Given the description of an element on the screen output the (x, y) to click on. 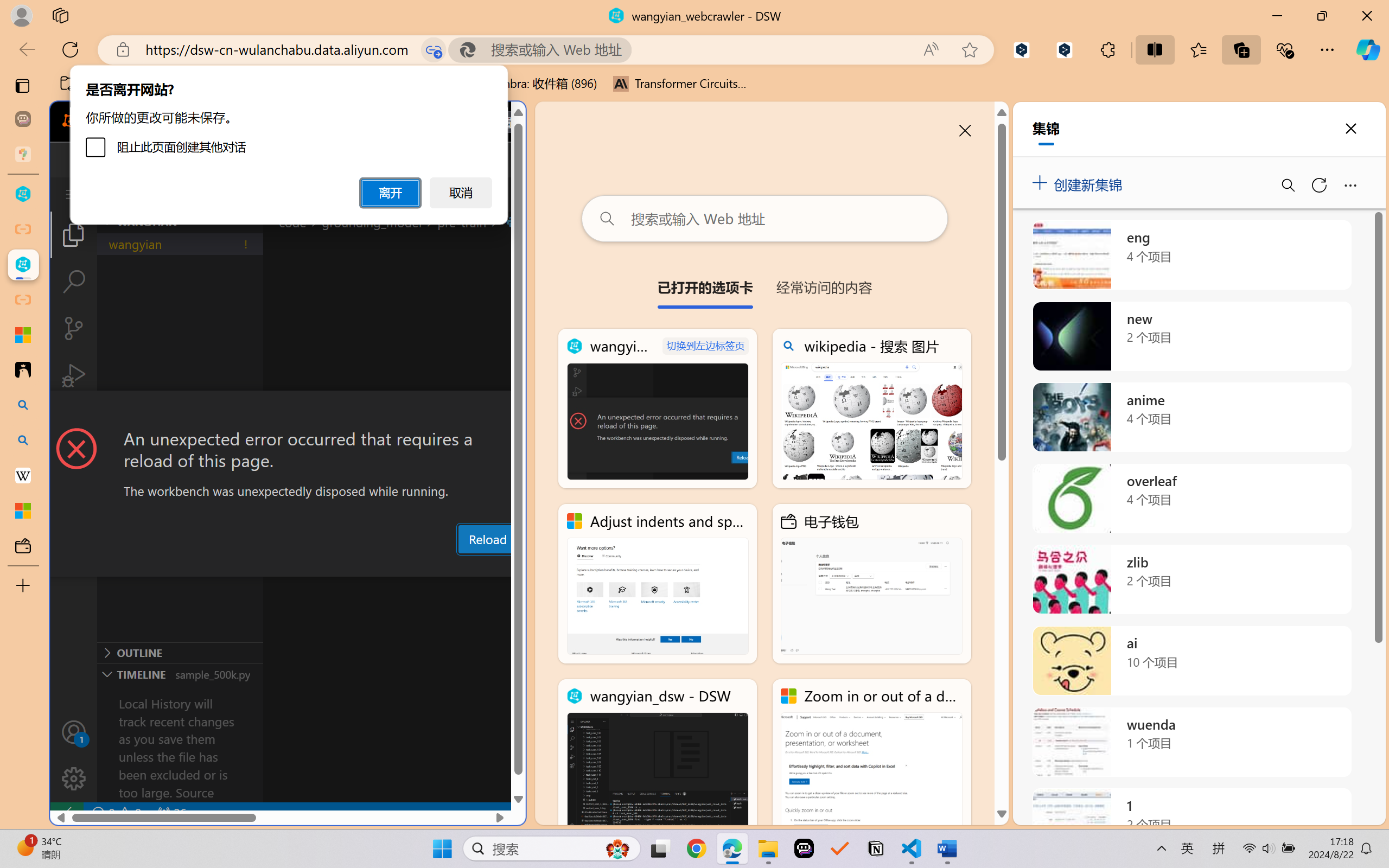
Adjust indents and spacing - Microsoft Support (22, 334)
Close Dialog (520, 410)
